Given the description of an element on the screen output the (x, y) to click on. 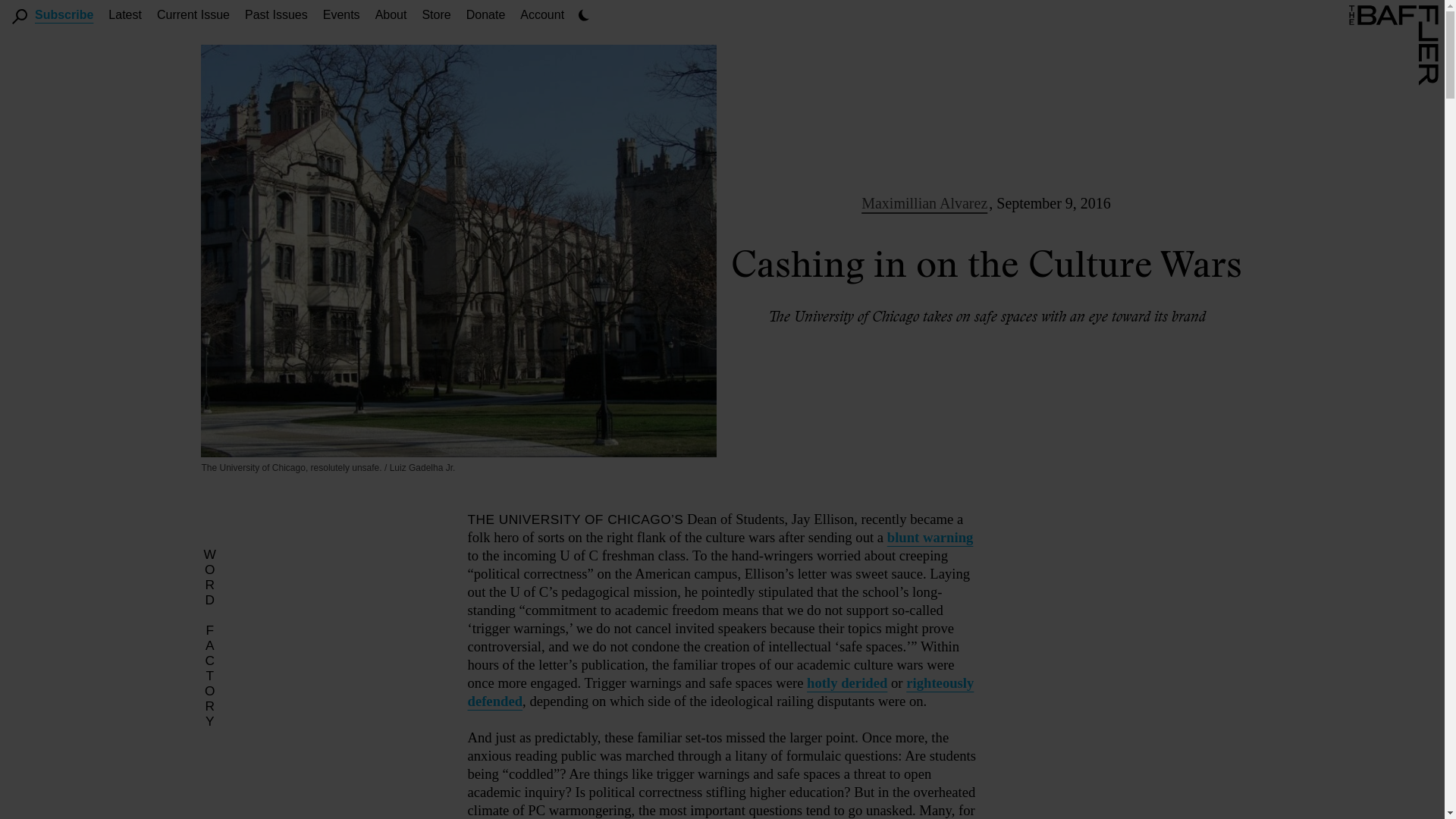
Past Issues (275, 14)
Dark Mode Settings (583, 15)
Current Issue (193, 14)
Store (435, 14)
Donate (485, 14)
hotly derided (846, 682)
righteously defended (720, 691)
Subscribe (63, 14)
Search (19, 16)
Maximillian Alvarez (924, 202)
